Given the description of an element on the screen output the (x, y) to click on. 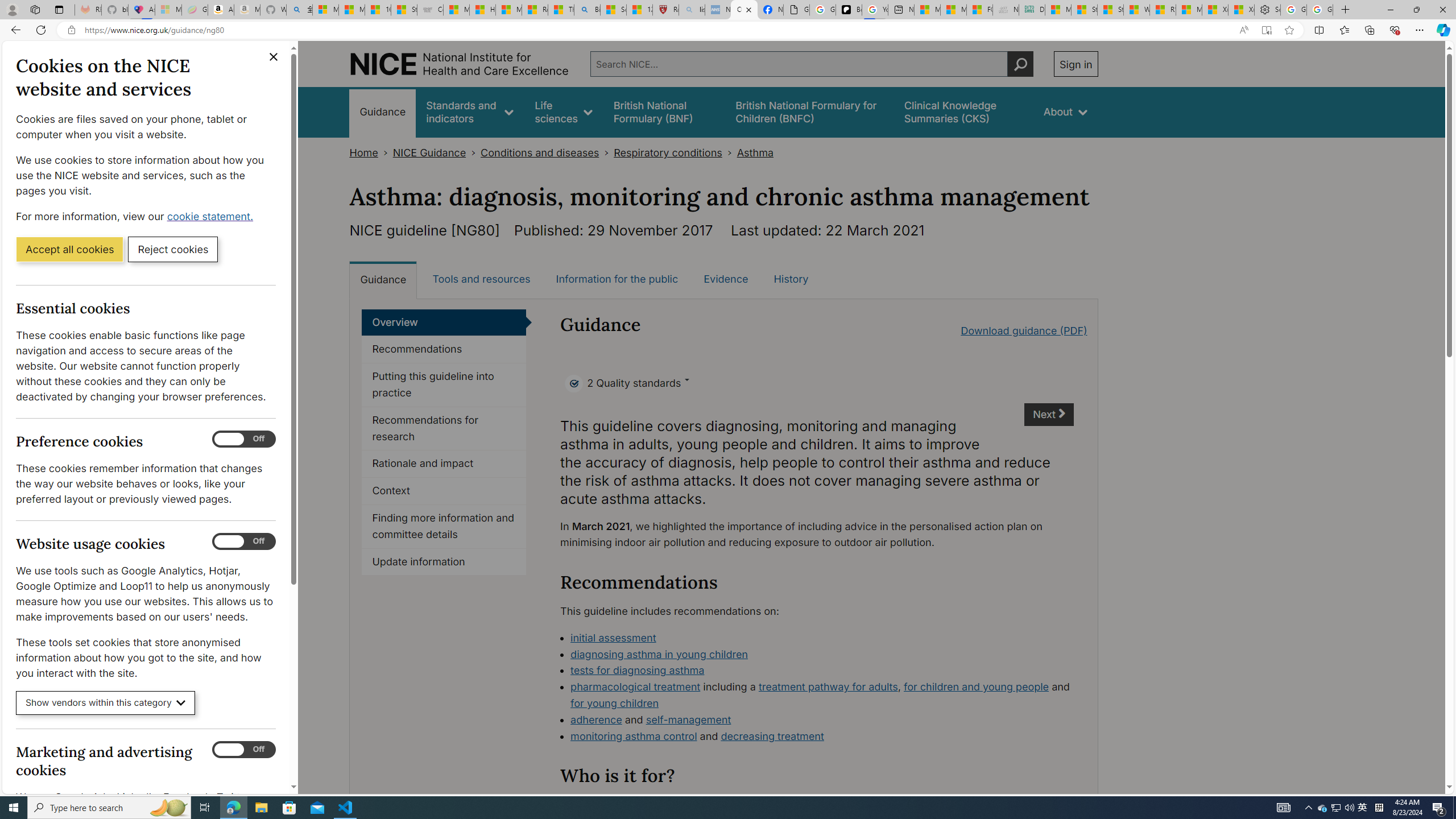
monitoring asthma control (633, 735)
Life sciences (563, 111)
Website usage cookies (243, 540)
initial assessment (613, 637)
diagnosing asthma in young children (822, 654)
History (790, 279)
Overview (444, 321)
adherence and self-management (822, 719)
